Given the description of an element on the screen output the (x, y) to click on. 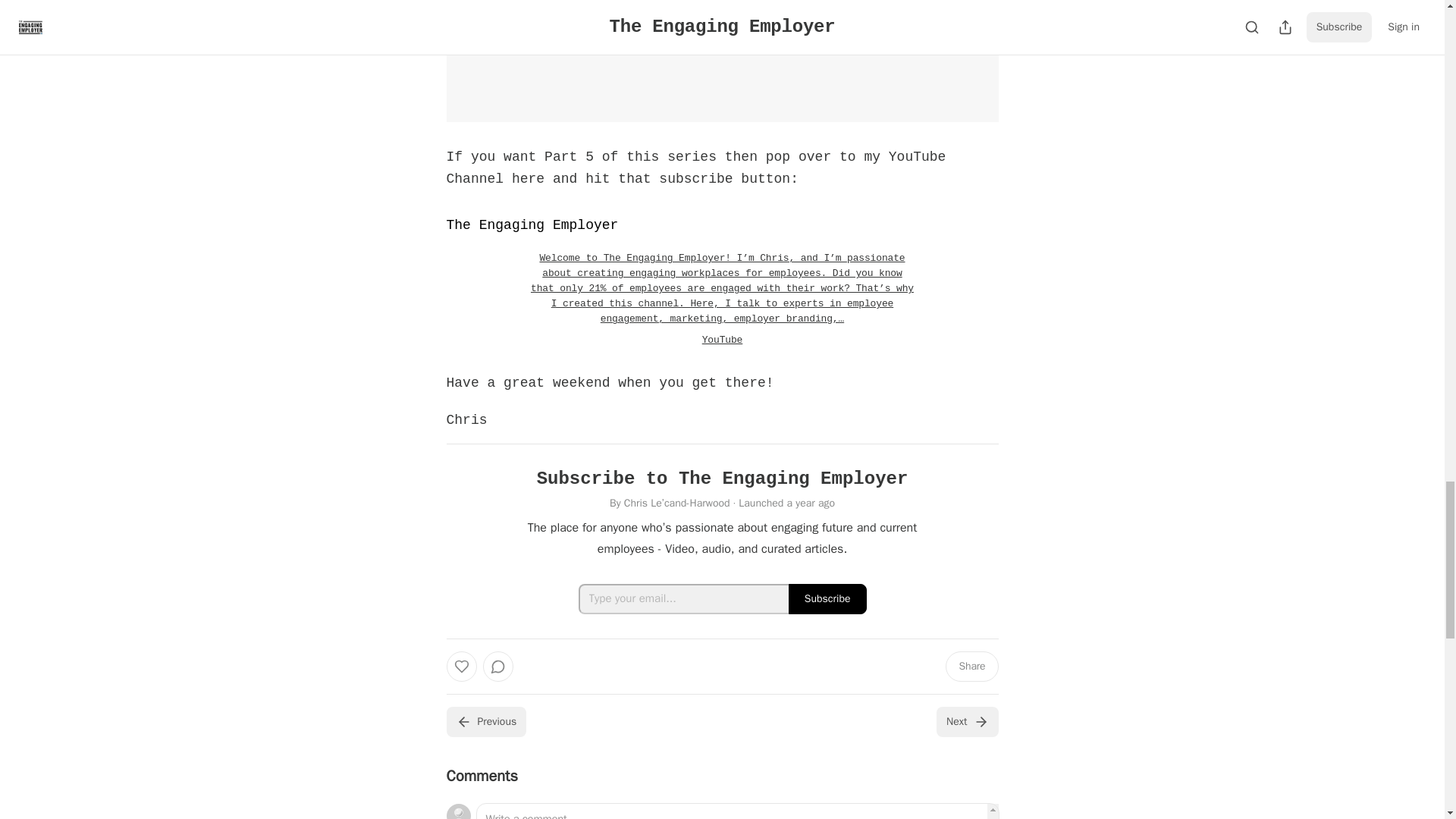
Previous (485, 721)
Subscribe (827, 598)
YouTube (721, 339)
Share (970, 666)
The Engaging Employer (531, 224)
